Given the description of an element on the screen output the (x, y) to click on. 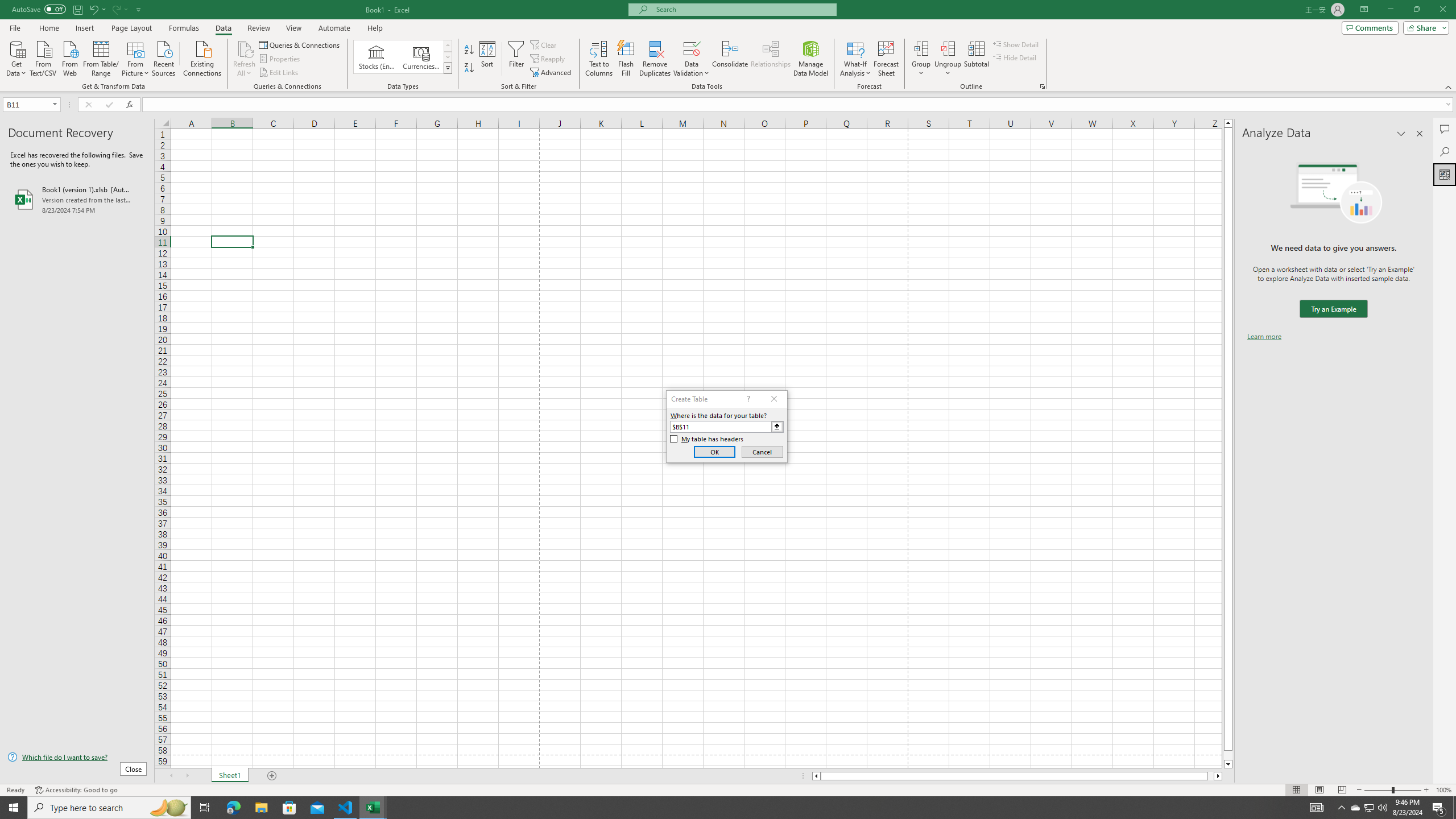
Learn more (1264, 336)
Task Pane Options (1400, 133)
Text to Columns... (598, 58)
Row Down (448, 56)
Microsoft search (742, 9)
Get Data (16, 57)
